Given the description of an element on the screen output the (x, y) to click on. 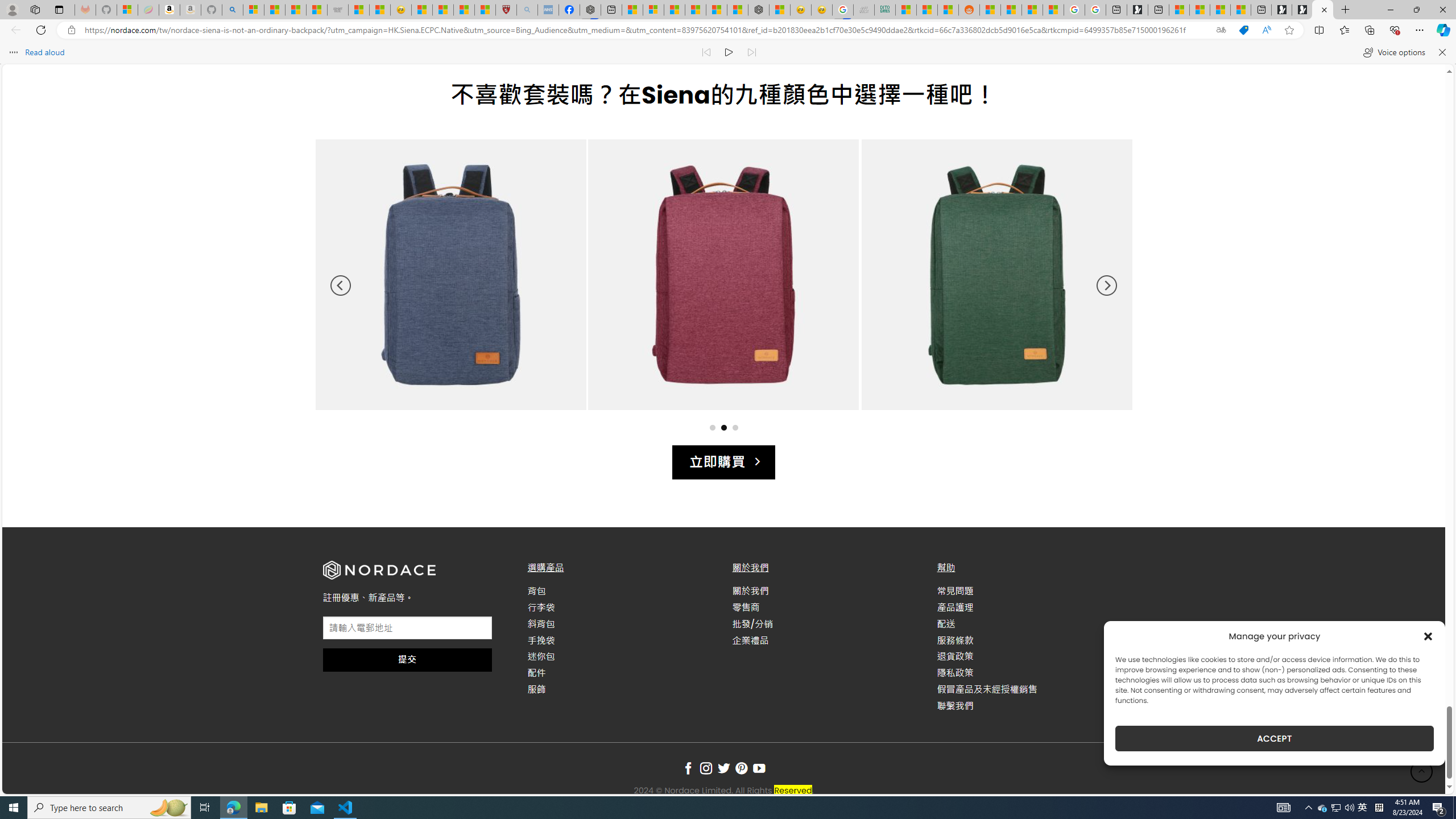
Page dot 3 (735, 427)
Page dot 1 (711, 427)
Class: flickity-button-icon (1106, 285)
Voice options (1393, 52)
